Given the description of an element on the screen output the (x, y) to click on. 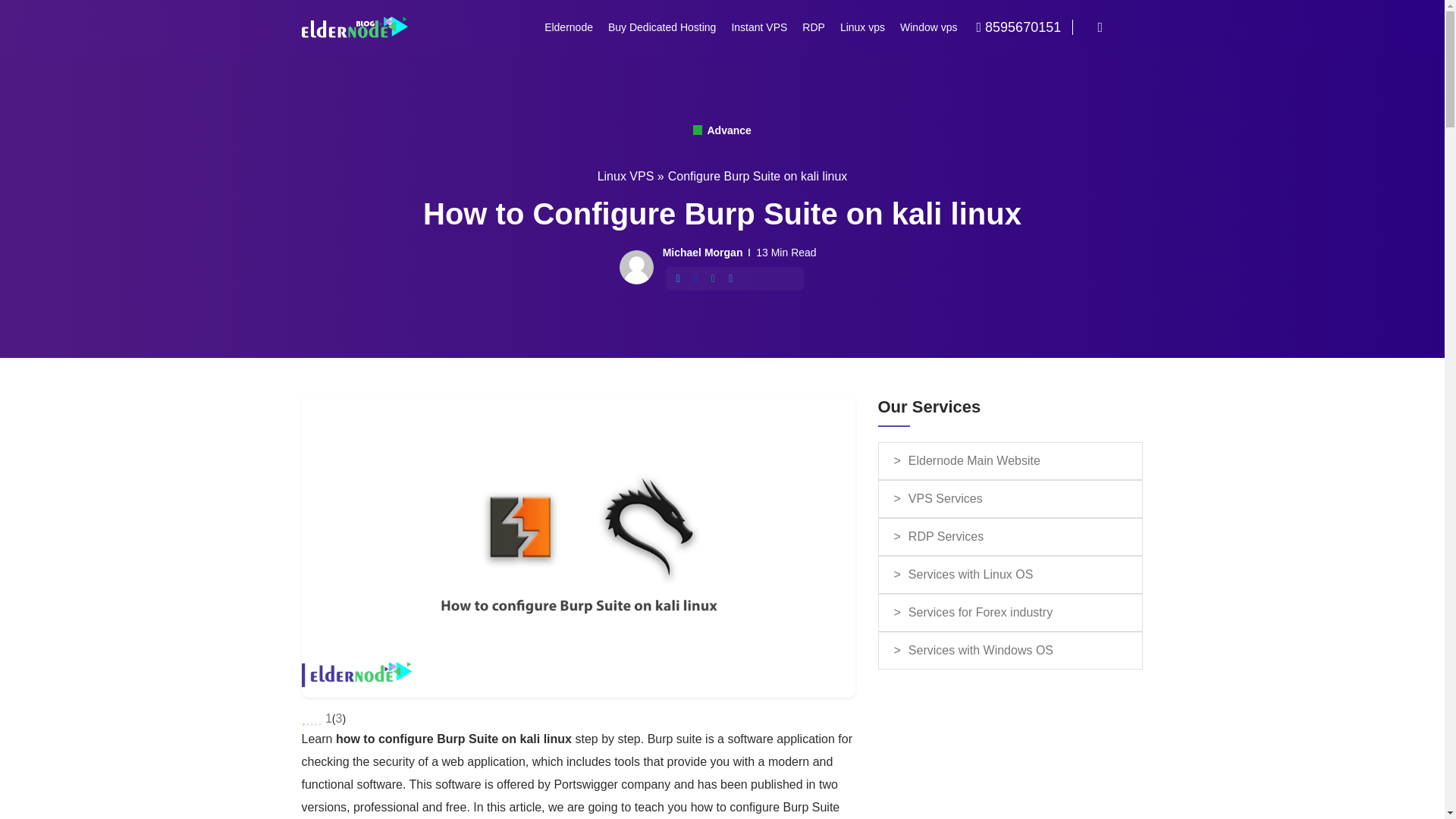
Eldernode (568, 27)
Linux VPS (624, 176)
8595670151 (1031, 26)
Buy Dedicated Hosting (661, 27)
Instant VPS (758, 27)
Window vps (927, 27)
Advance (722, 130)
Michael Morgan (702, 252)
RDP (813, 27)
Linux vps (862, 27)
